Given the description of an element on the screen output the (x, y) to click on. 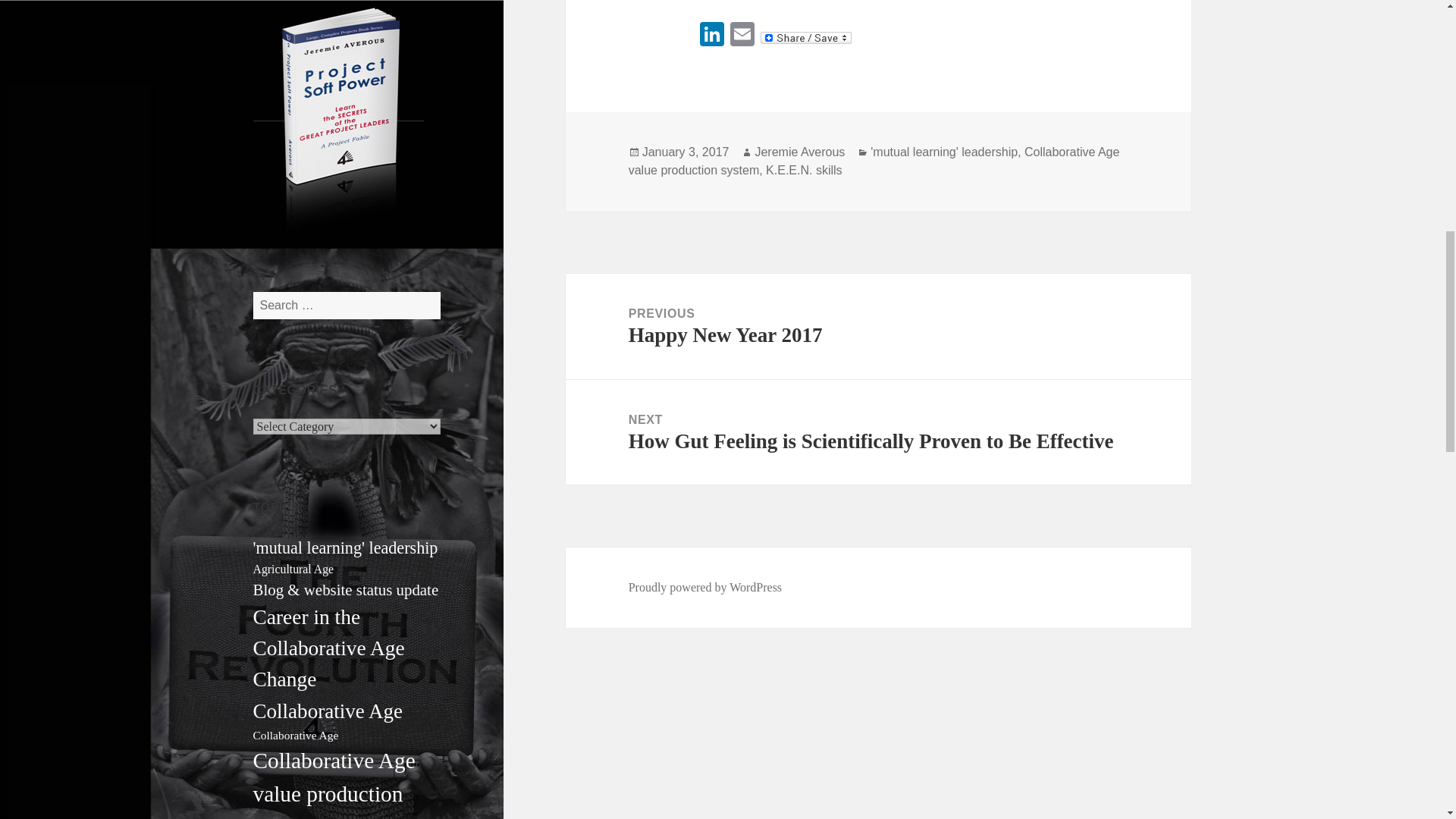
'mutual learning' leadership (345, 547)
Agricultural Age (293, 568)
Change (285, 679)
LinkedIn (711, 35)
Collaborative Age value production system (333, 783)
Collaborative Age (328, 711)
